Given the description of an element on the screen output the (x, y) to click on. 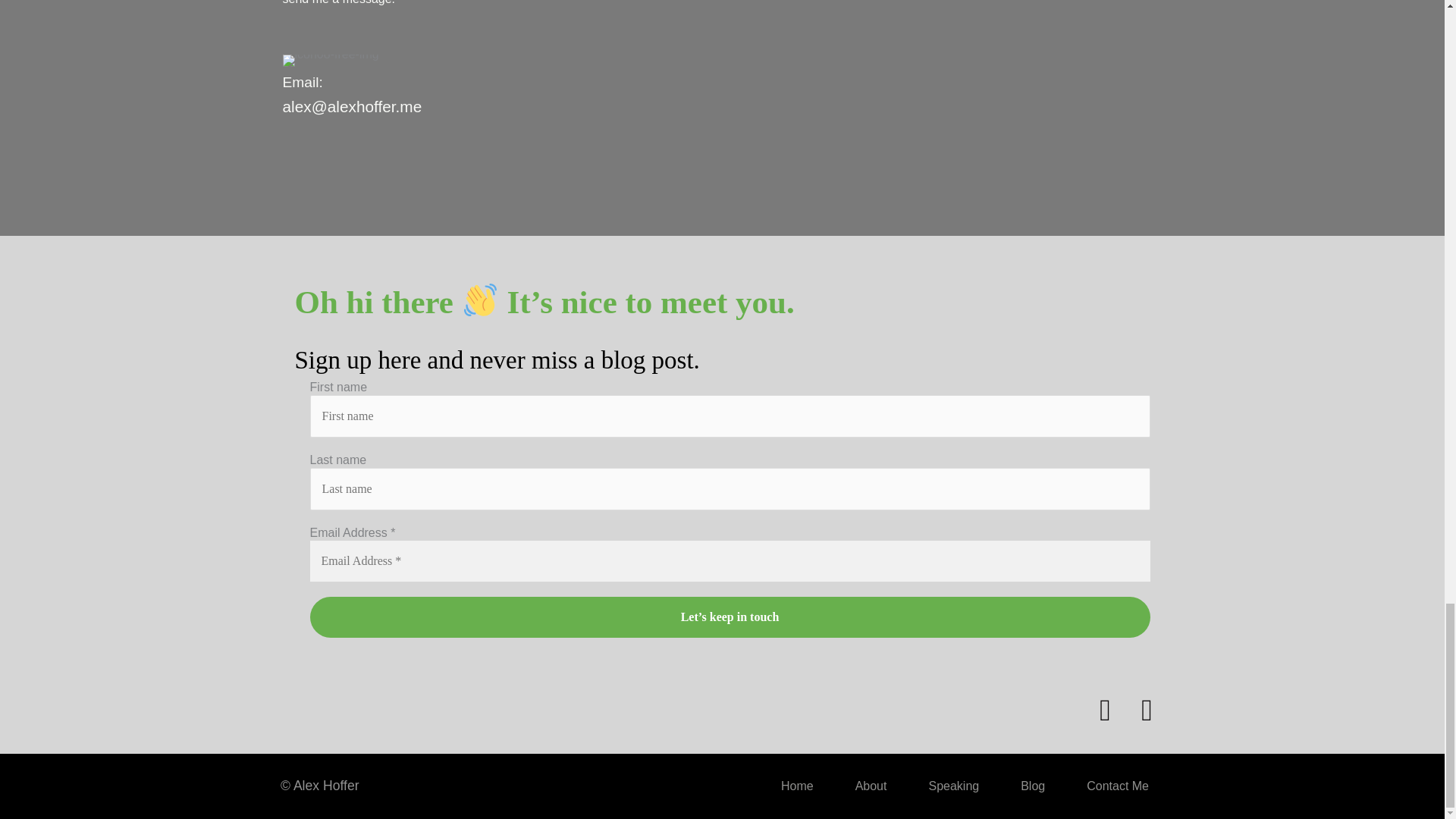
Last name (729, 488)
icon08-free-img (330, 60)
First name (729, 415)
Blog (1023, 786)
Home (787, 786)
Speaking (944, 786)
Email Address (729, 560)
Contact Me (1107, 786)
About (861, 786)
